Given the description of an element on the screen output the (x, y) to click on. 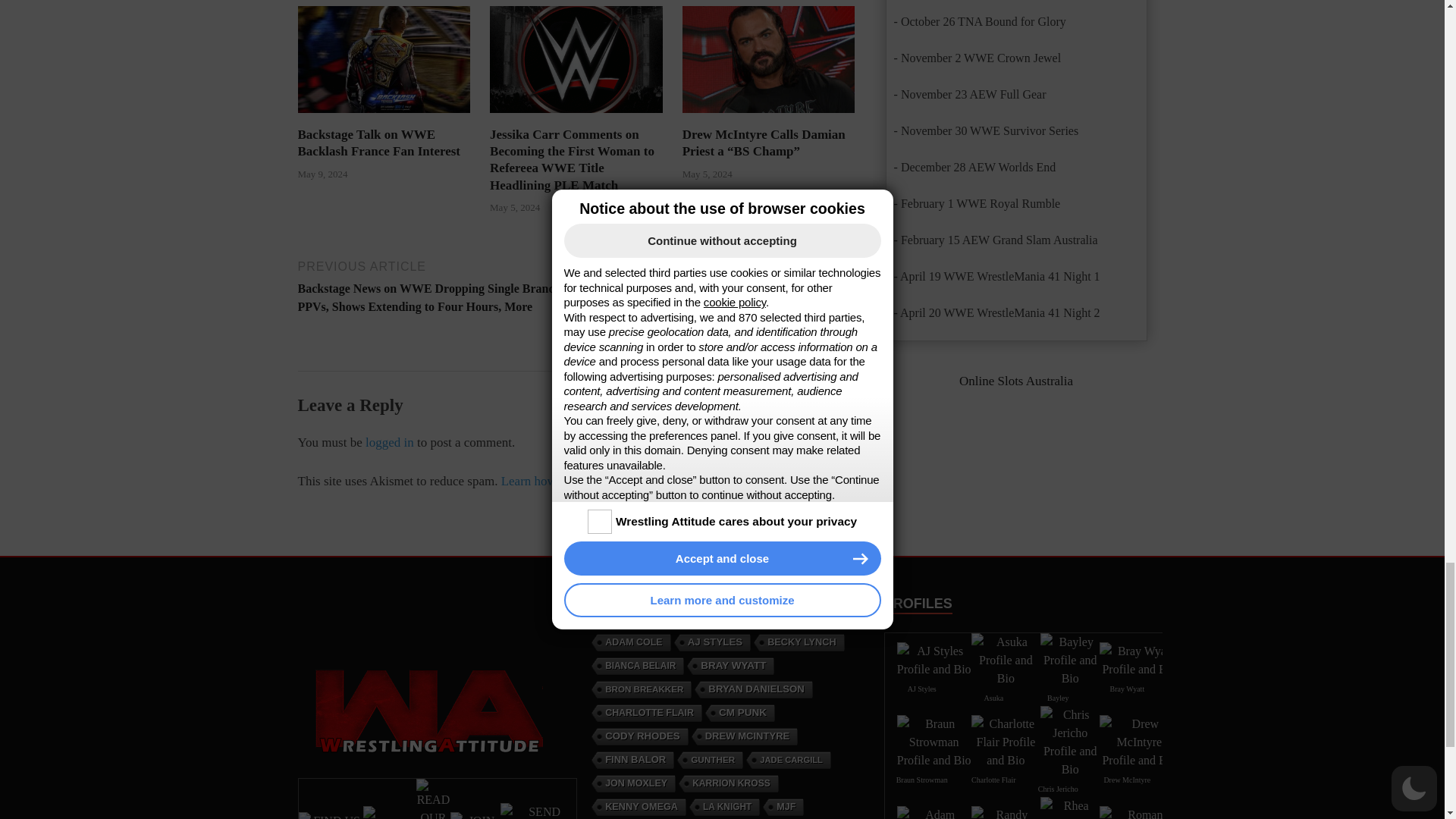
Backstage Talk on WWE Backlash France Fan Interest (383, 59)
Backstage Talk on WWE Backlash France Fan Interest (383, 116)
Backstage Talk on WWE Backlash France Fan Interest (378, 142)
